Given the description of an element on the screen output the (x, y) to click on. 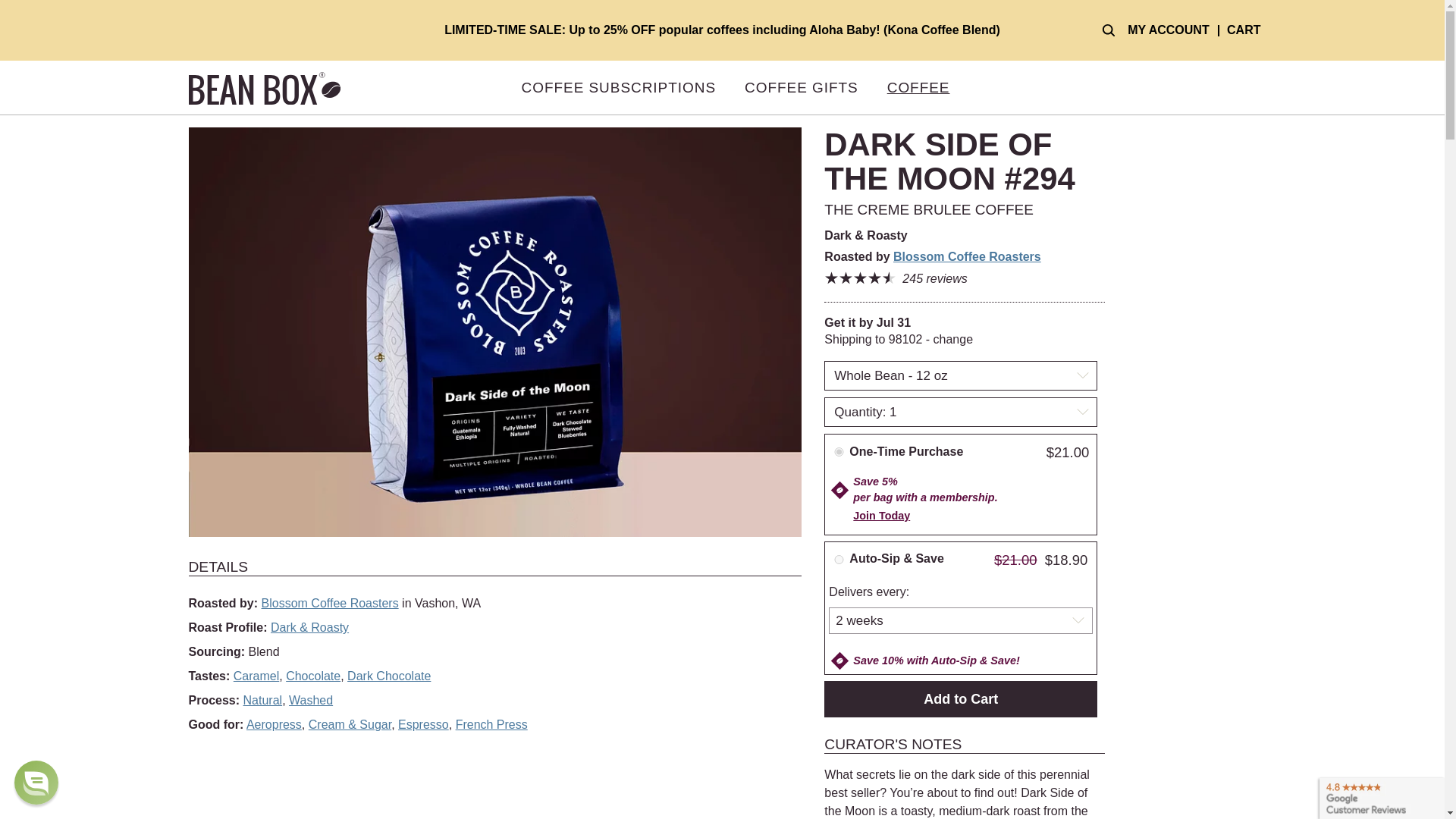
Espresso (422, 724)
Join Today (881, 515)
Caramel (255, 675)
Blossom Coffee Roasters (330, 603)
COFFEE (918, 87)
on (839, 559)
Natural (262, 699)
COFFEE GIFTS (801, 87)
MY ACCOUNT (1167, 30)
French Press (491, 724)
on (839, 451)
Aeropress (273, 724)
Blossom Coffee Roasters (967, 256)
quantity to buy (960, 412)
Dark Chocolate (388, 675)
